Given the description of an element on the screen output the (x, y) to click on. 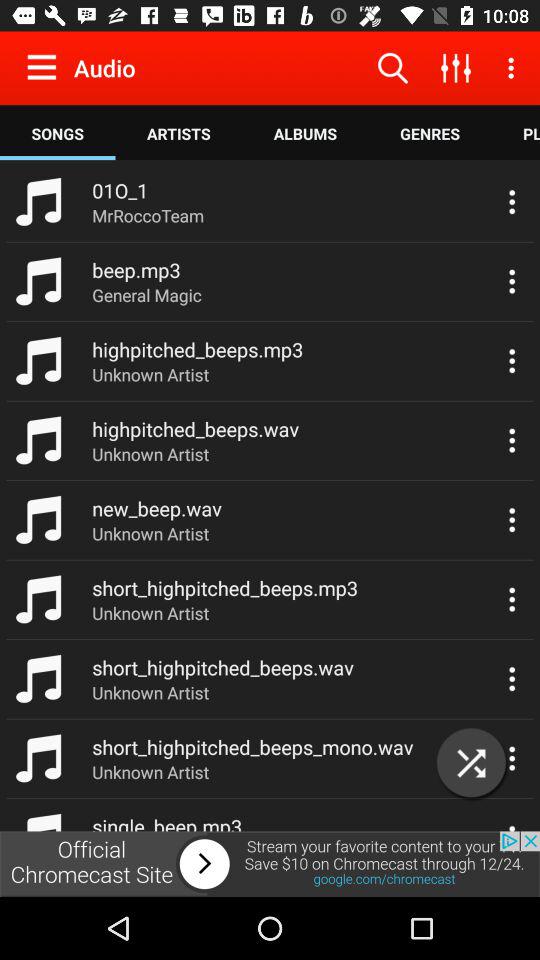
open the settings (46, 67)
